Given the description of an element on the screen output the (x, y) to click on. 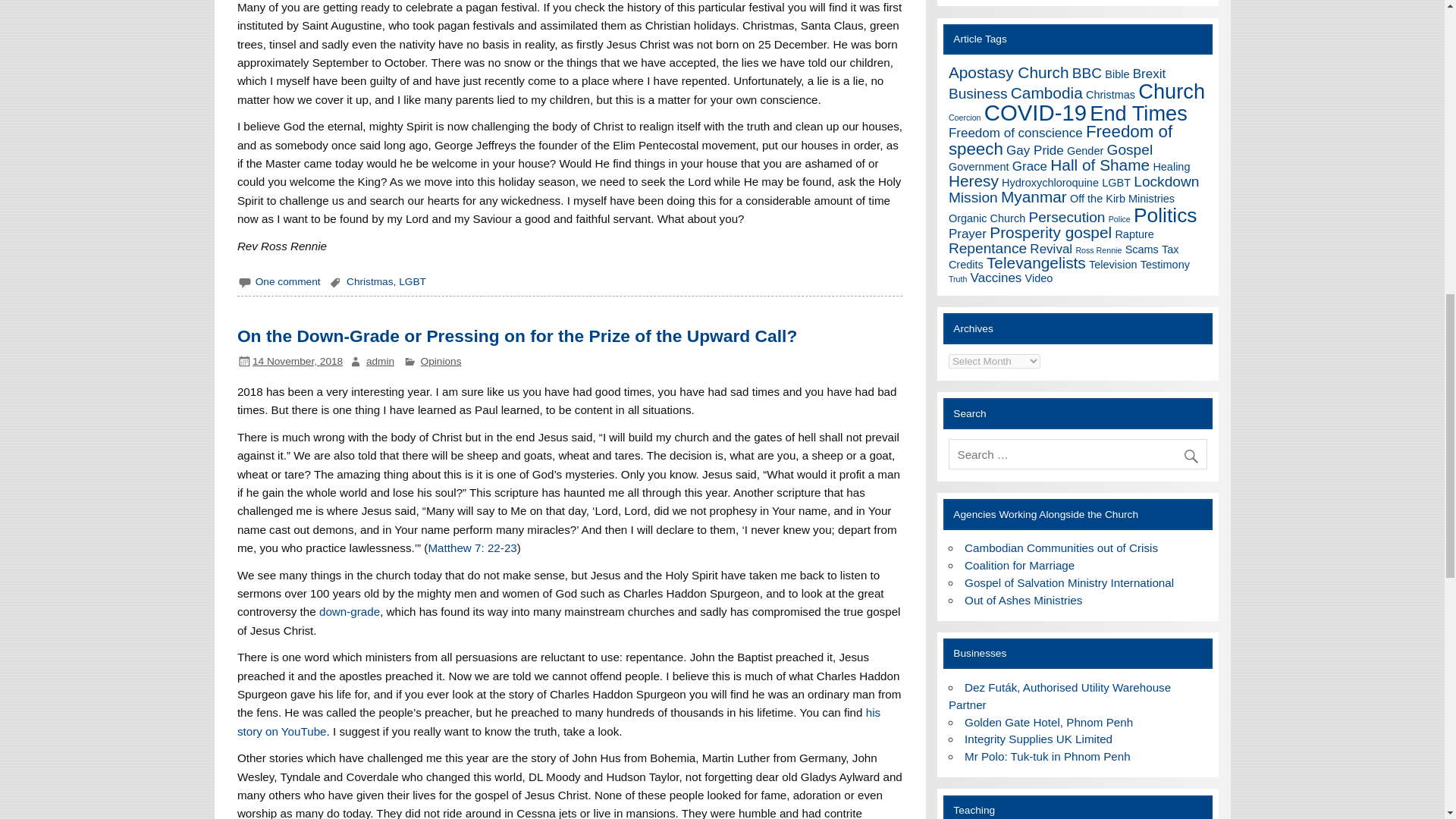
down-grade (349, 611)
Integrity Supplies (1037, 738)
Coalition for Marriage (1018, 564)
admin (380, 360)
14 November, 2018 (296, 360)
One comment (288, 281)
Save money on energy, broadband and mobile phone service (1059, 695)
LGBT (412, 281)
his story on YouTube (558, 721)
